Given the description of an element on the screen output the (x, y) to click on. 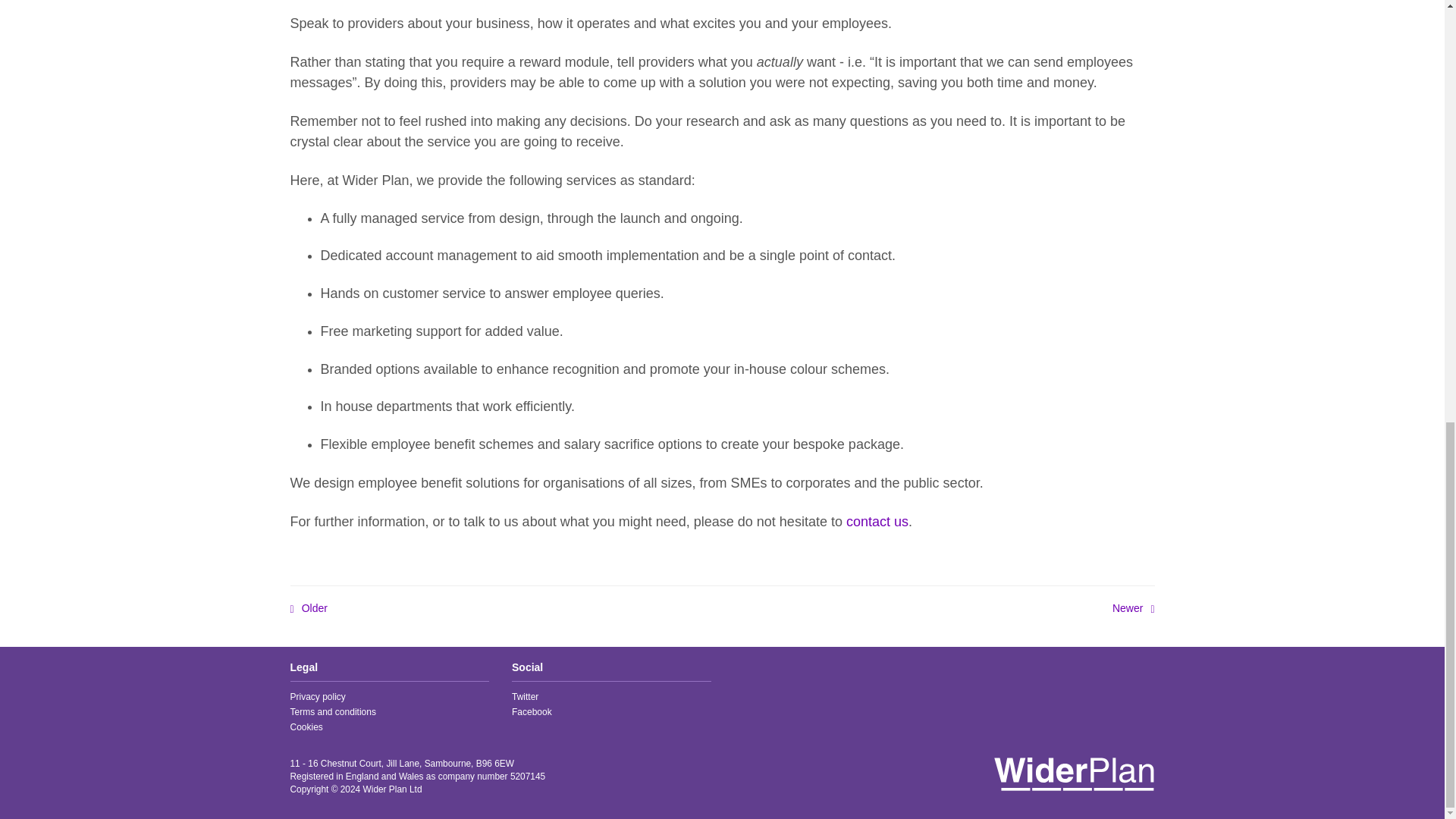
Twitter (525, 696)
Privacy policy (317, 696)
contact us (876, 521)
Newer (1133, 608)
Older (307, 607)
Cookies (305, 726)
Facebook (531, 711)
Terms and conditions (332, 711)
